Given the description of an element on the screen output the (x, y) to click on. 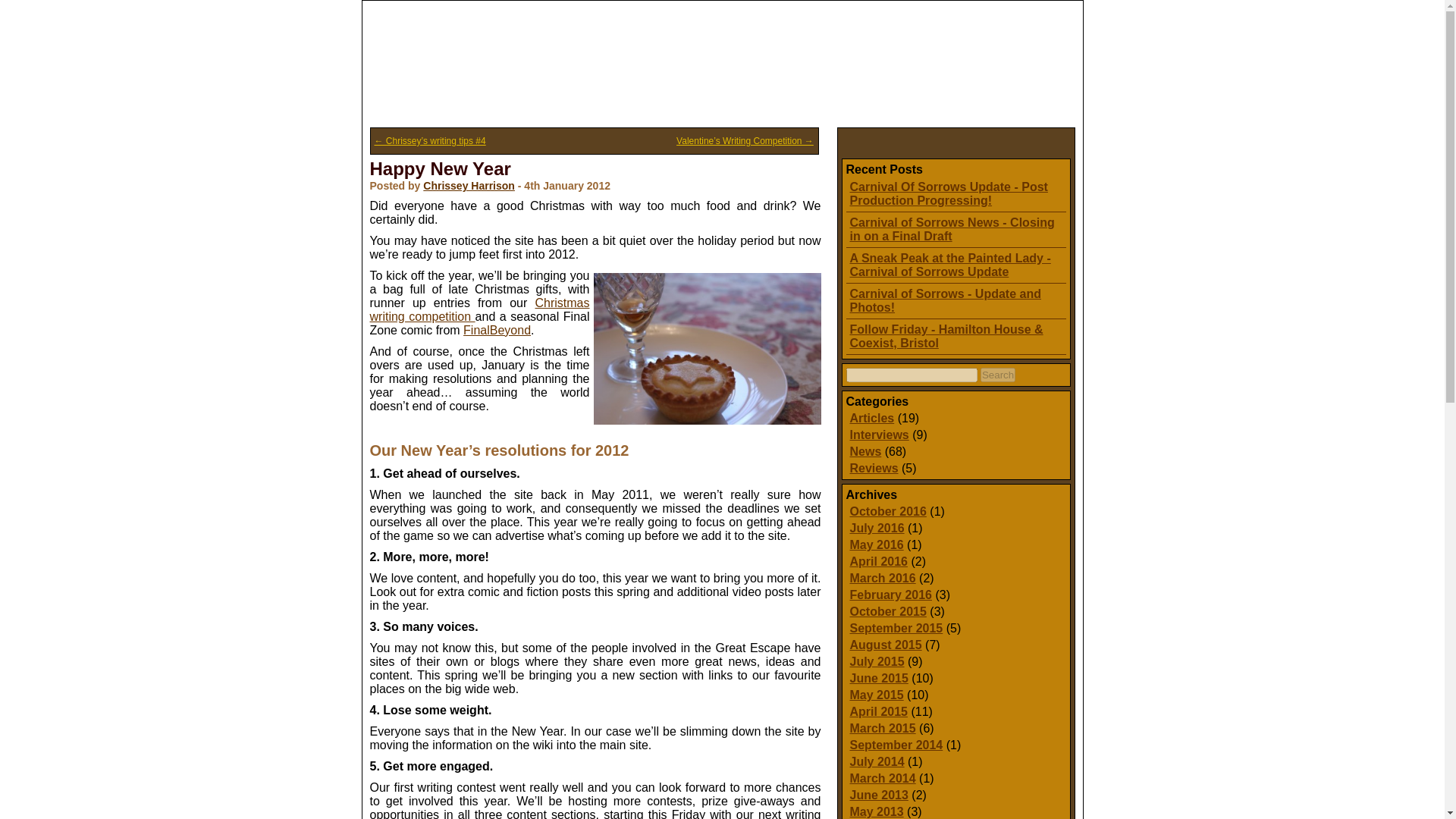
Home (404, 101)
August 2015 (884, 644)
Follow FinalBeyond on Twitter (497, 329)
May 2015 (875, 694)
The Great Escape - Writing competitions (479, 309)
mince pie (706, 348)
Carnival of Sorrows - Update and Photos! (944, 300)
Search (996, 374)
Reviews (873, 468)
March 2014 (881, 778)
